Given the description of an element on the screen output the (x, y) to click on. 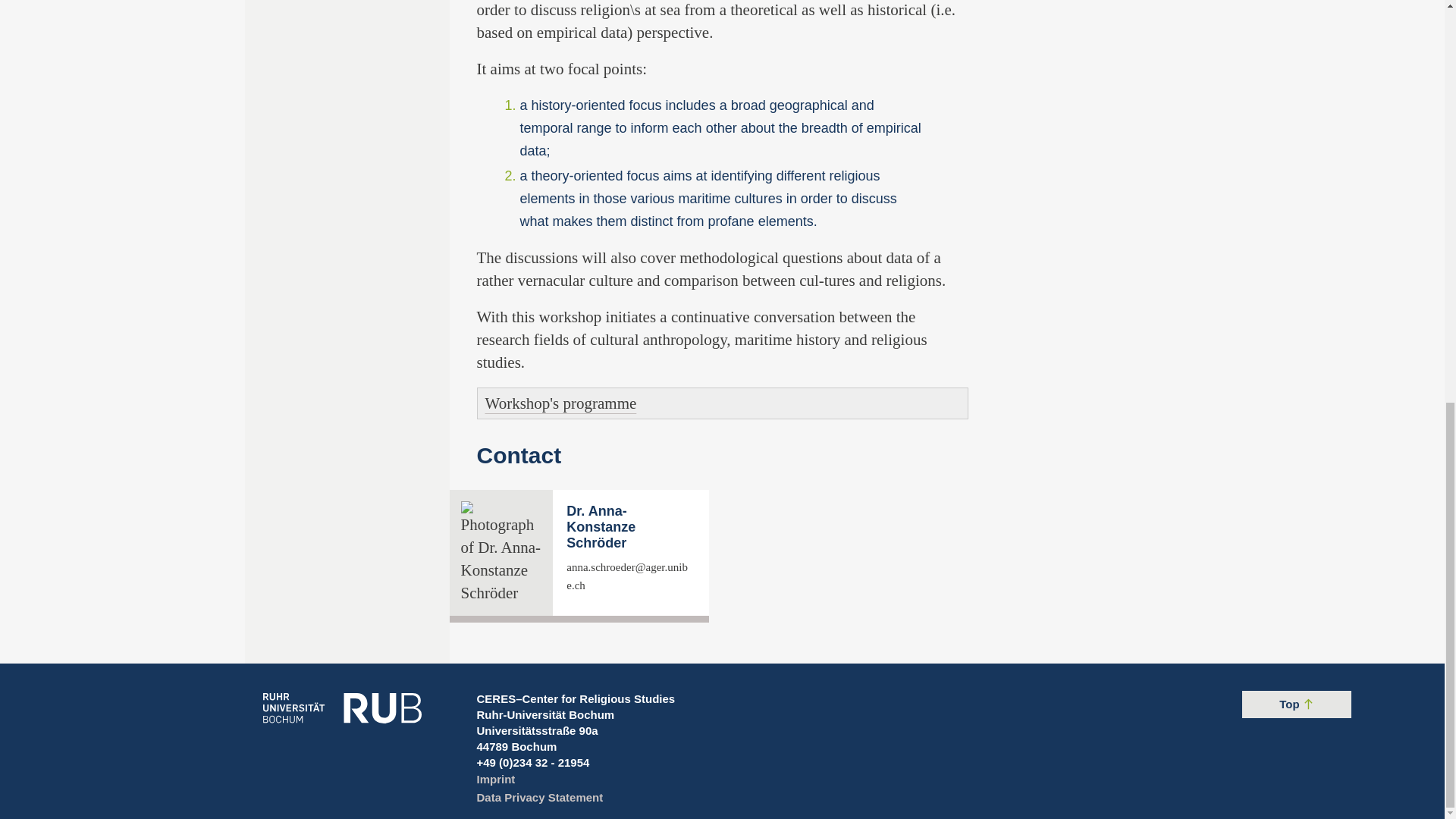
Data Privacy Statement (539, 797)
Top  (1296, 704)
Imprint (495, 779)
Workshop's programme (560, 402)
